Given the description of an element on the screen output the (x, y) to click on. 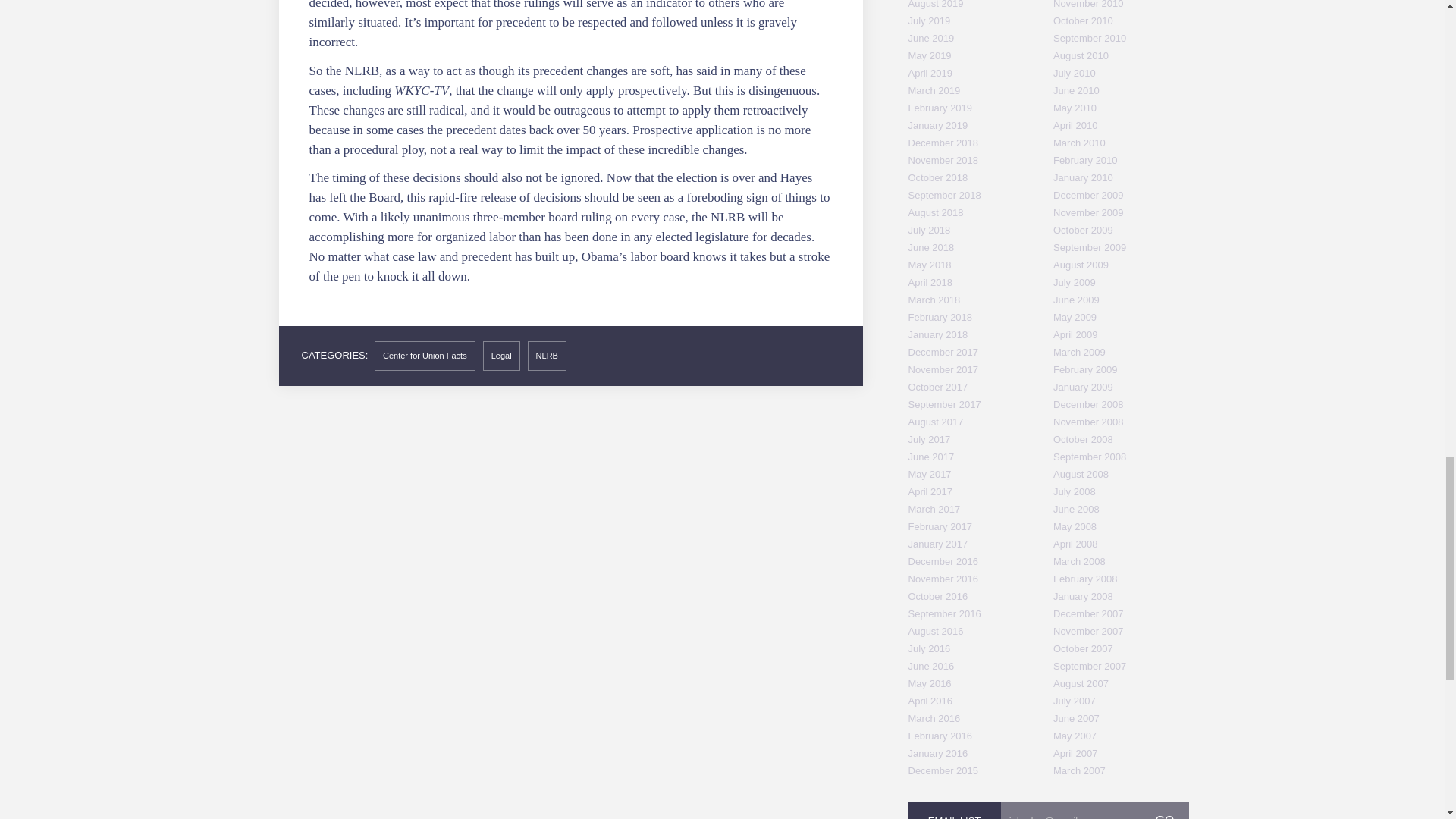
Center for Union Facts (425, 356)
Legal (501, 356)
NLRB (546, 356)
GO (1165, 810)
